Given the description of an element on the screen output the (x, y) to click on. 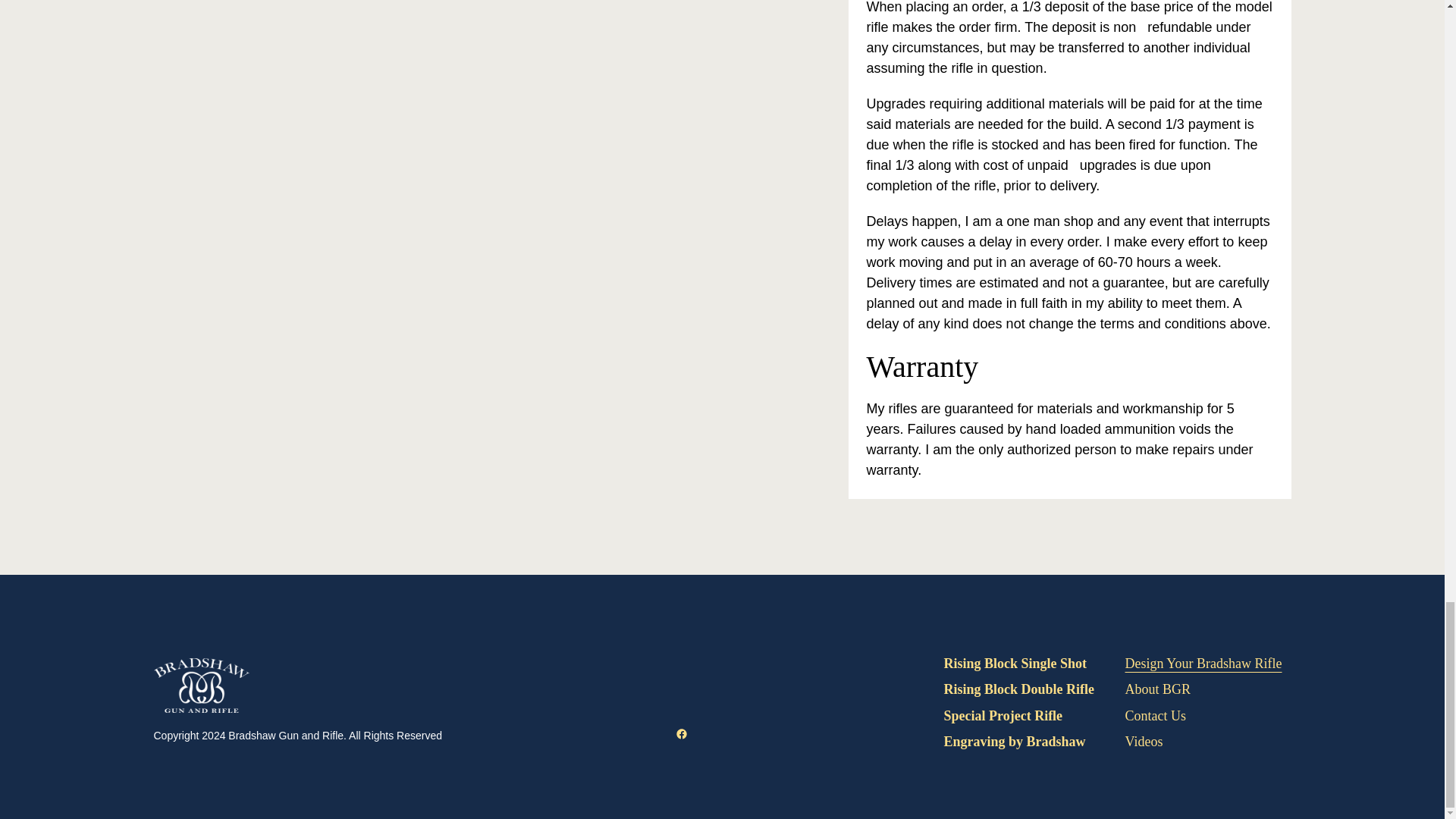
Facebook (681, 734)
Contact Us (1155, 715)
Special Project Rifle (1002, 715)
Rising Block Single Shot (1014, 663)
Design Your Bradshaw Rifle (1203, 663)
Rising Block Double Rifle (1018, 688)
Engraving by Bradshaw (1013, 741)
About BGR (1158, 688)
Videos (1144, 741)
